Given the description of an element on the screen output the (x, y) to click on. 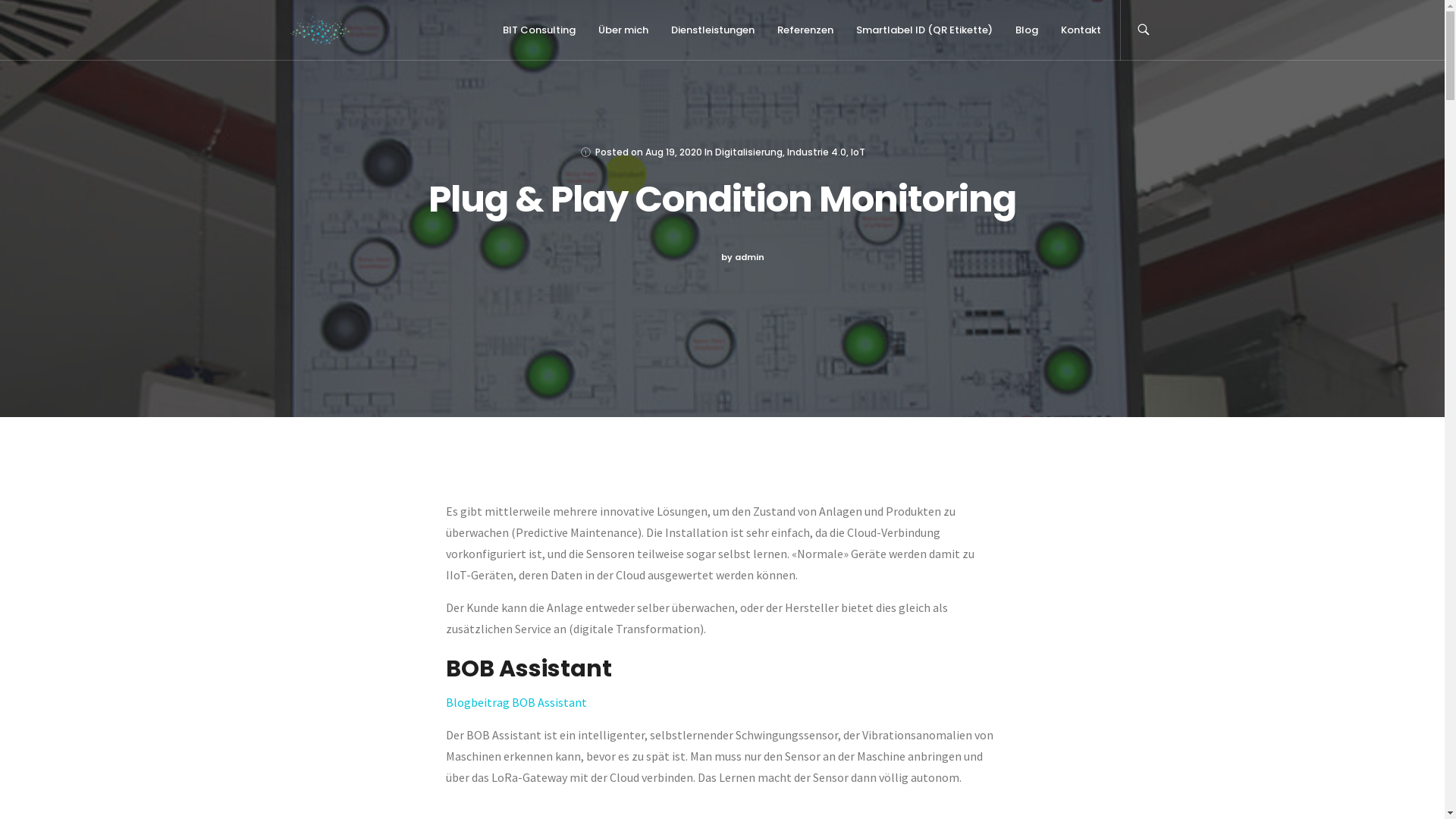
Messenger Element type: text (537, 587)
by admin Element type: text (741, 257)
Kontakt Element type: text (308, 621)
Industrie 4.0 Element type: text (816, 151)
CHE-310.400.153 Element type: text (1021, 590)
Dienstleistungen Element type: text (712, 30)
Smartlabel ID (QR Etikette) Element type: text (353, 568)
Aug 19, 2020 Element type: text (672, 151)
Dienstleistungen Element type: text (330, 516)
Digitalisierung Element type: text (747, 151)
IoT Element type: text (857, 151)
Blog Element type: text (300, 594)
BIT Consulting Element type: text (538, 30)
Referenzen Element type: text (804, 30)
Blogbeitrag BOB Assistant Element type: text (515, 701)
Impressum Element type: text (984, 627)
No-Code Element type: text (532, 561)
Kontakt Element type: text (1080, 30)
Smartlabel ID (digitales QR Typenschild) Element type: text (605, 490)
Smartlabel ID (QR Etikette) Element type: text (924, 30)
BIT Consulting Element type: text (324, 464)
Referenzen Element type: text (317, 542)
Digitale Betriebsanleitung Element type: text (574, 464)
Blog Element type: text (1026, 30)
